Given the description of an element on the screen output the (x, y) to click on. 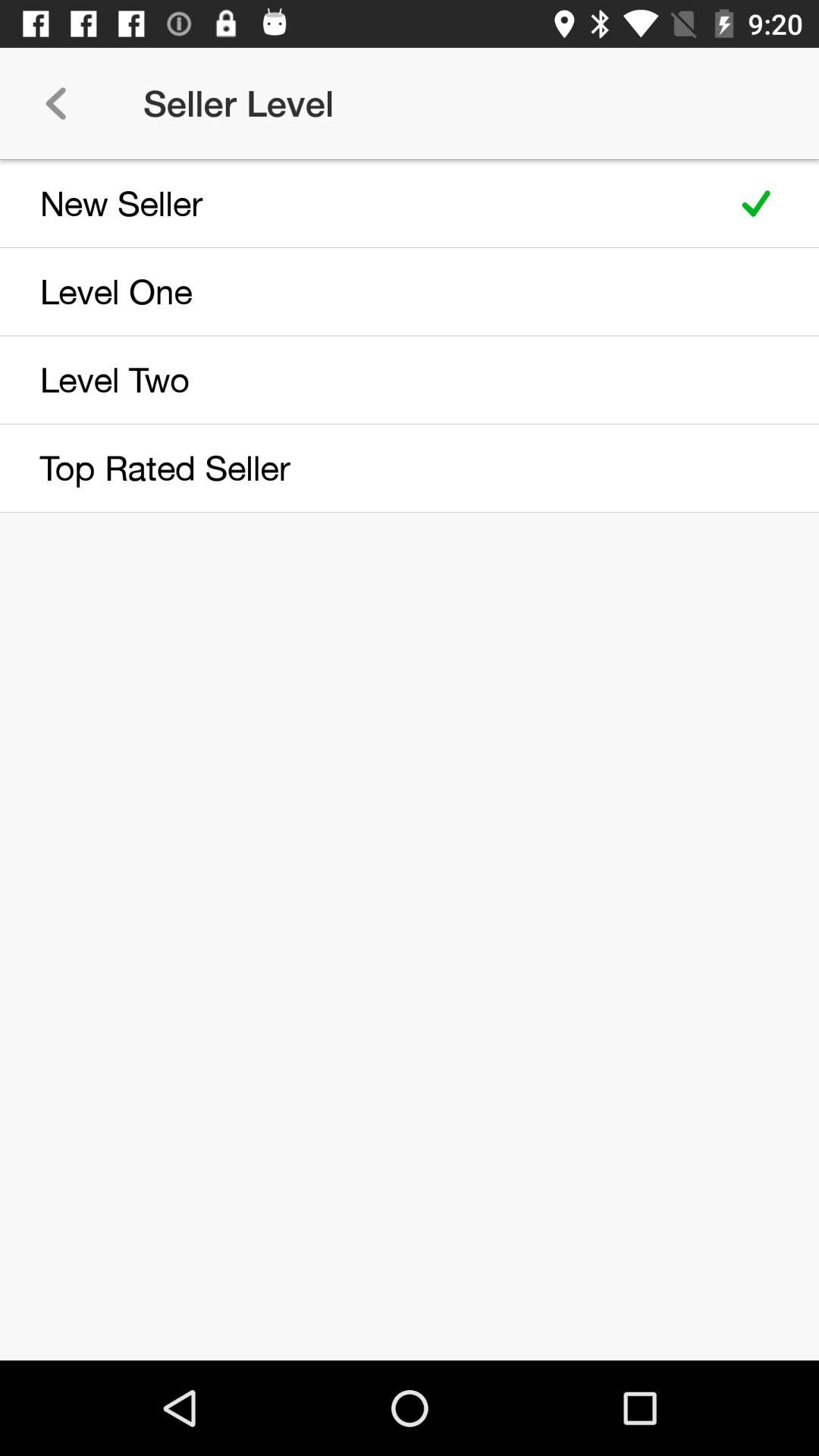
swipe to the level one item (358, 291)
